Given the description of an element on the screen output the (x, y) to click on. 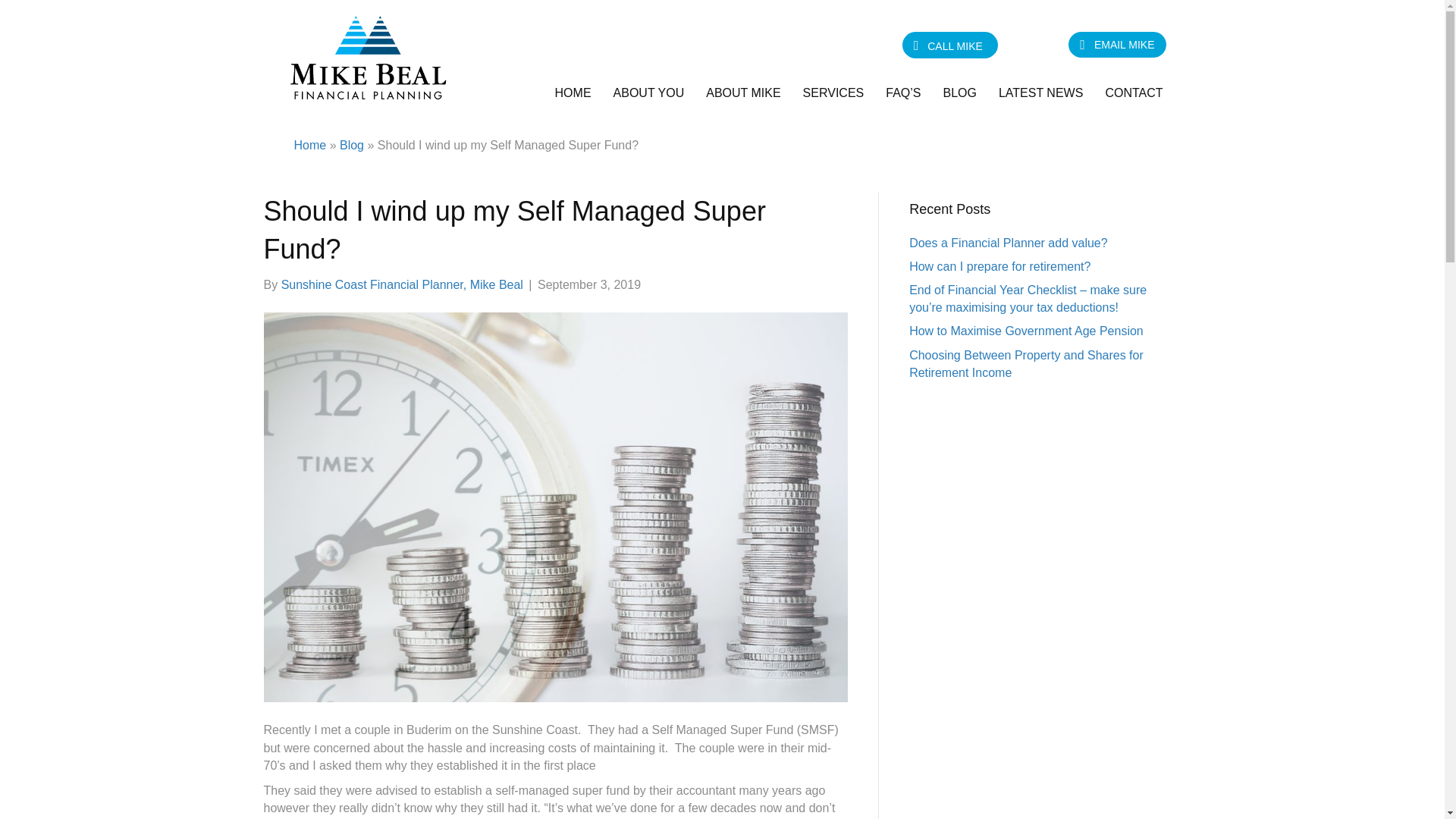
FAQ (903, 92)
CALL MIKE (949, 44)
BLOG (959, 92)
Blog (959, 92)
ABOUT MIKE (742, 92)
How can I prepare for retirement? (999, 266)
LATEST NEWS (1040, 92)
Mike Beal Financial Planner Sunshine Coast (367, 56)
Does a Financial Planner add value? (1008, 242)
Contact (1133, 92)
Home (310, 144)
EMAIL MIKE (1117, 44)
ABOUT YOU (648, 92)
HOME (573, 92)
Mike Beal (573, 92)
